Given the description of an element on the screen output the (x, y) to click on. 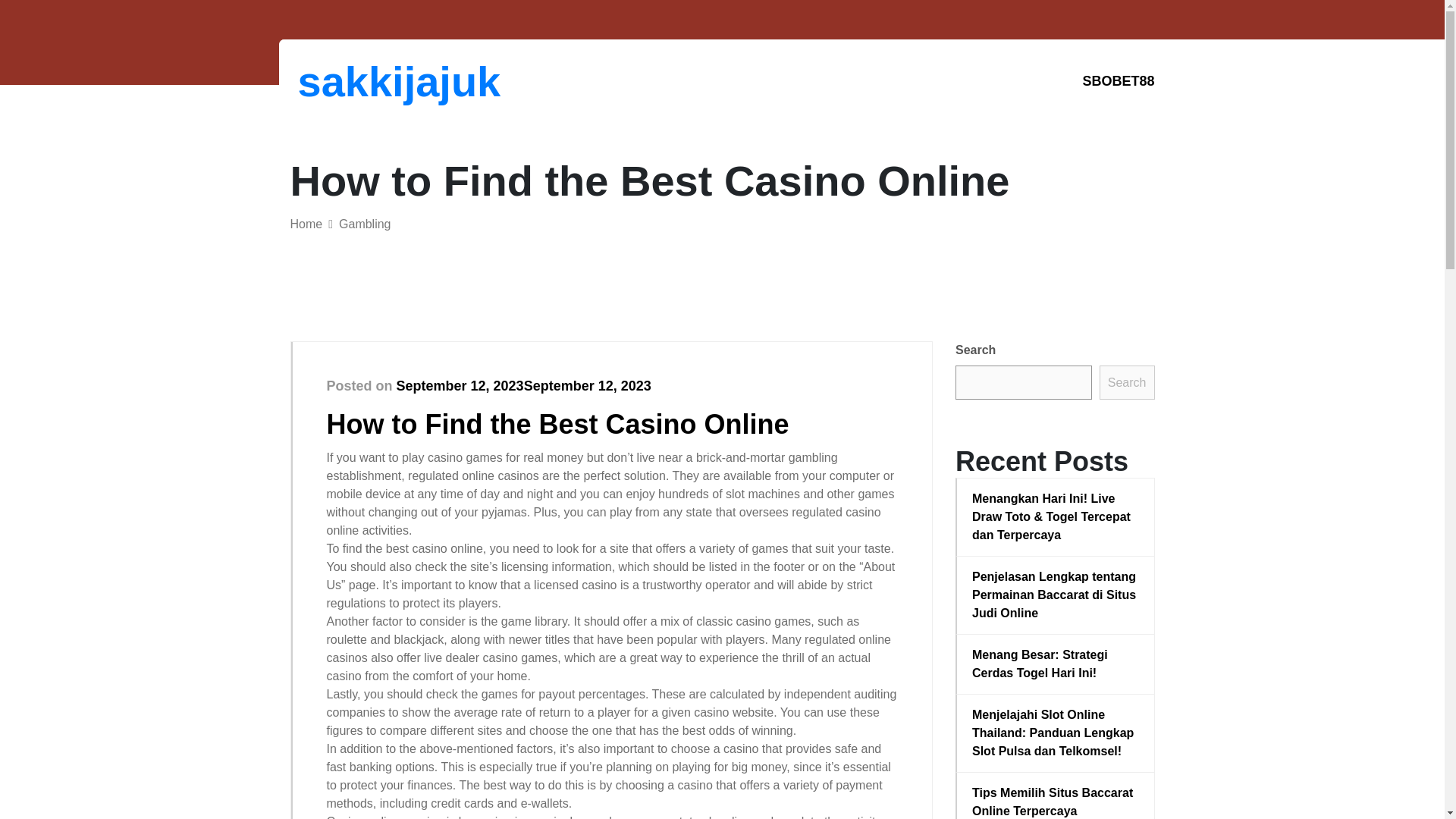
Tips Memilih Situs Baccarat Online Terpercaya (1055, 801)
SBOBET88 (1117, 81)
SBOBET88 (1117, 81)
Menang Besar: Strategi Cerdas Togel Hari Ini! (1055, 664)
How to Find the Best Casino Online (557, 423)
Gambling (364, 223)
Search (1126, 382)
sakkijajuk (376, 81)
